Given the description of an element on the screen output the (x, y) to click on. 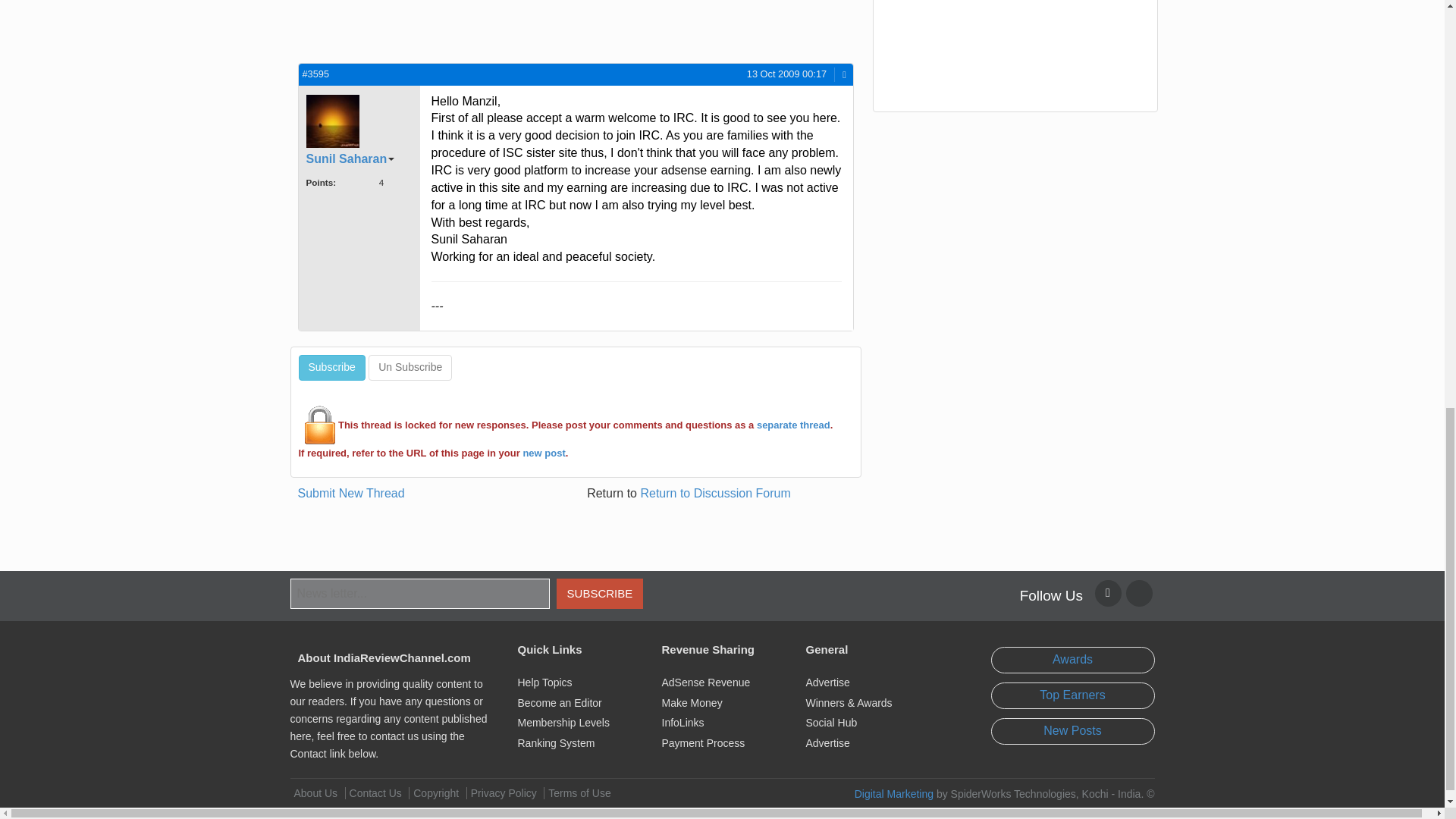
Advertisement (432, 29)
Subscribe (331, 367)
Un Subscribe (409, 367)
